Given the description of an element on the screen output the (x, y) to click on. 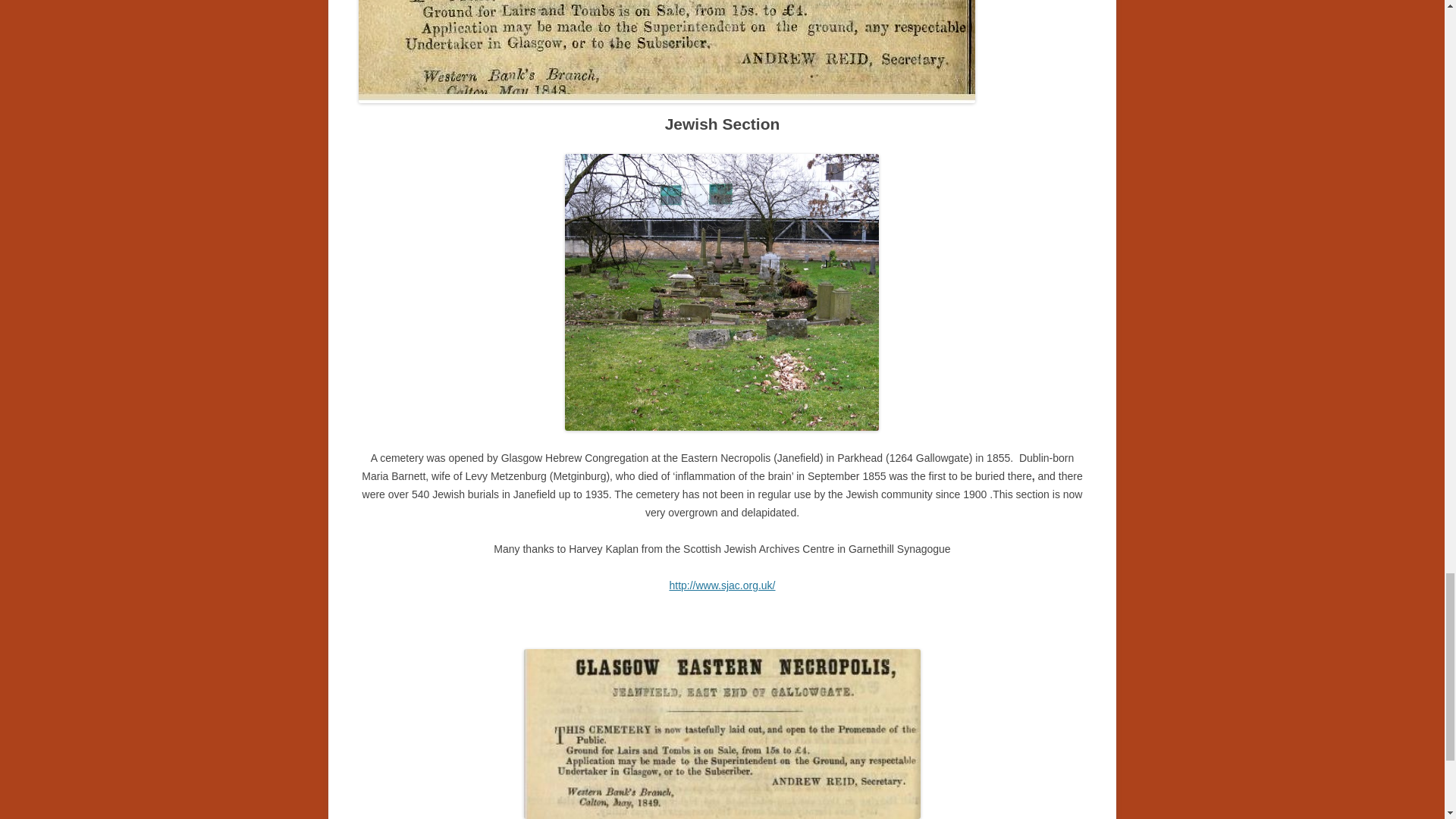
eastern necropolis (666, 51)
jewish section (721, 291)
